Given the description of an element on the screen output the (x, y) to click on. 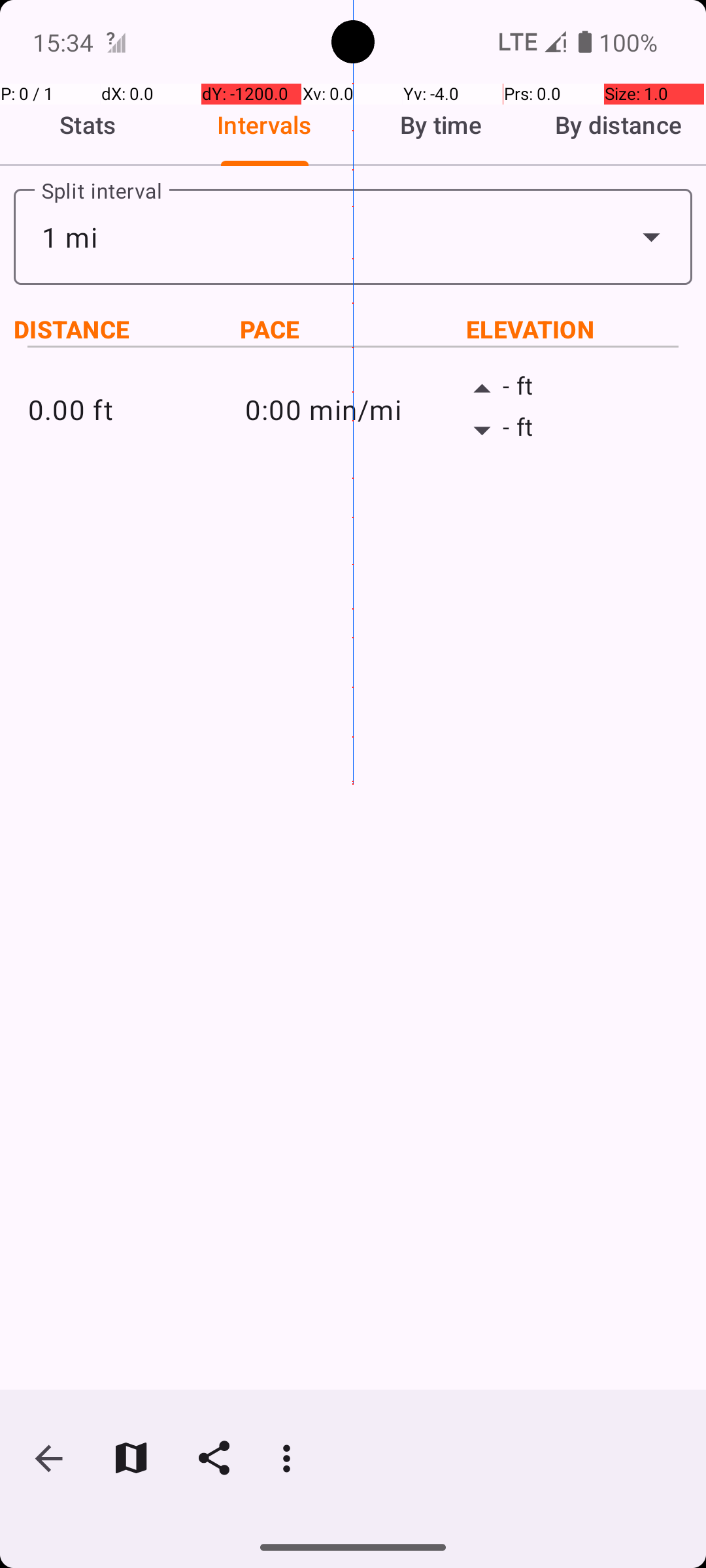
PACE Element type: android.widget.TextView (352, 328)
0:00 min/mi Element type: android.widget.TextView (352, 408)
